Given the description of an element on the screen output the (x, y) to click on. 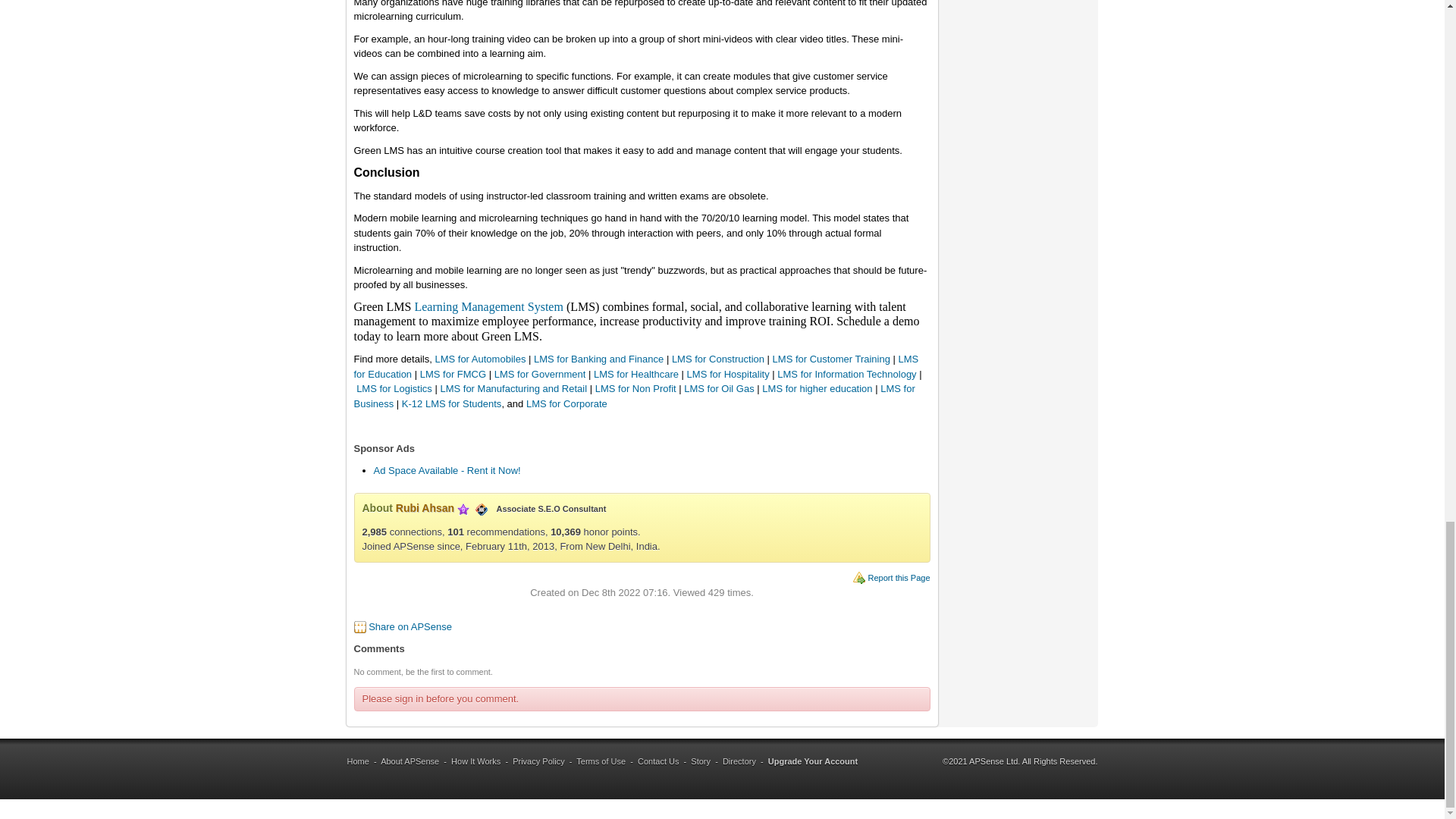
LMS for Healthcare (636, 374)
LMS for Banking and Finance (598, 358)
View Business Center (481, 508)
LMS for Logistics (394, 388)
LMS for higher education (816, 388)
K-12 LMS for Students (451, 403)
Ad Space Available - Rent it Now! (445, 470)
Learning Management System (487, 307)
LMS for Government (540, 374)
LMS for Oil Gas (719, 388)
LMS for Information Technology (846, 374)
LMS for Construction (717, 358)
Rubi Ahsan (425, 508)
Report this Page (898, 577)
LMS for Hospitality (728, 374)
